Given the description of an element on the screen output the (x, y) to click on. 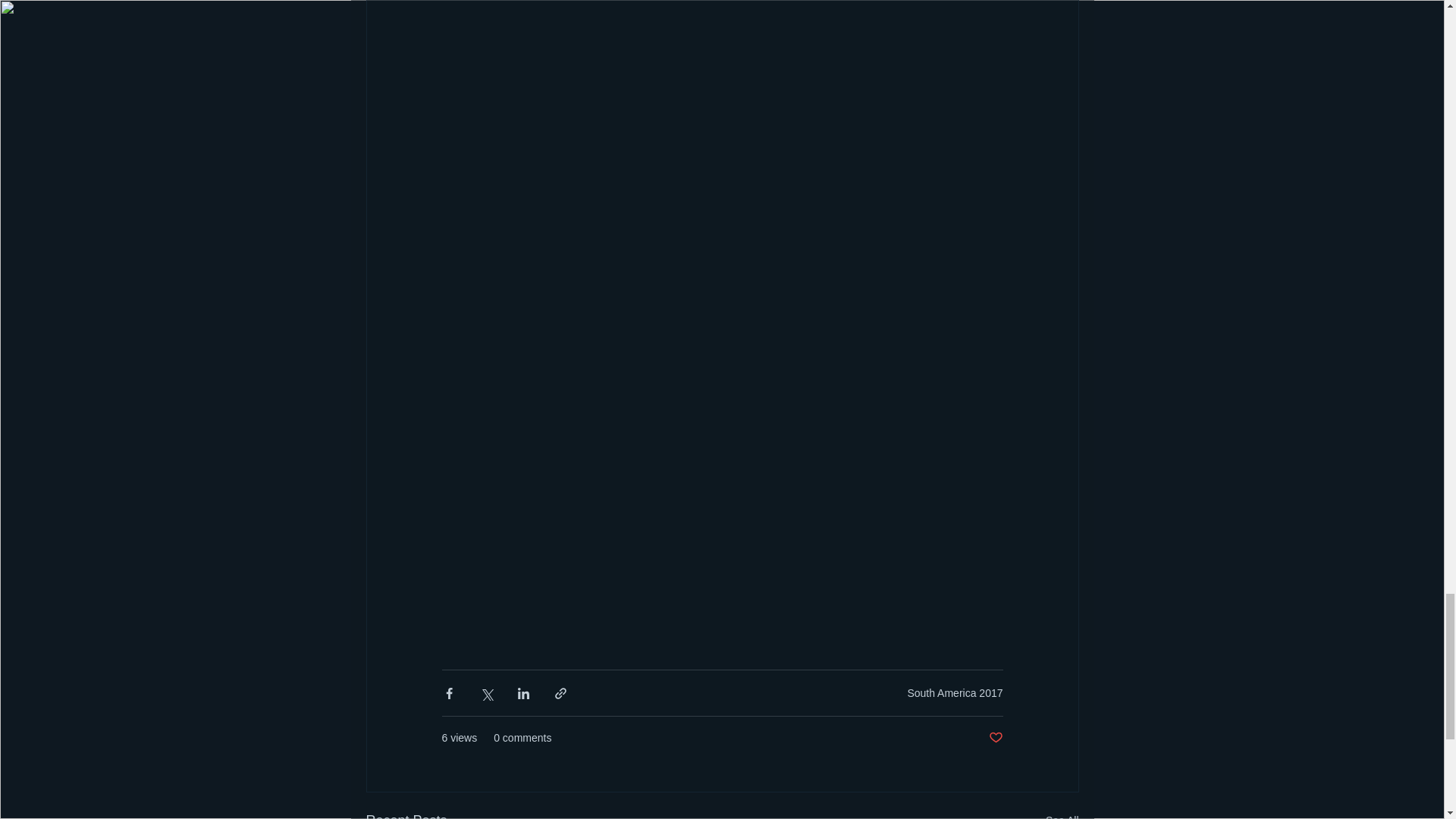
Post not marked as liked (995, 738)
South America 2017 (955, 693)
See All (1061, 814)
